Given the description of an element on the screen output the (x, y) to click on. 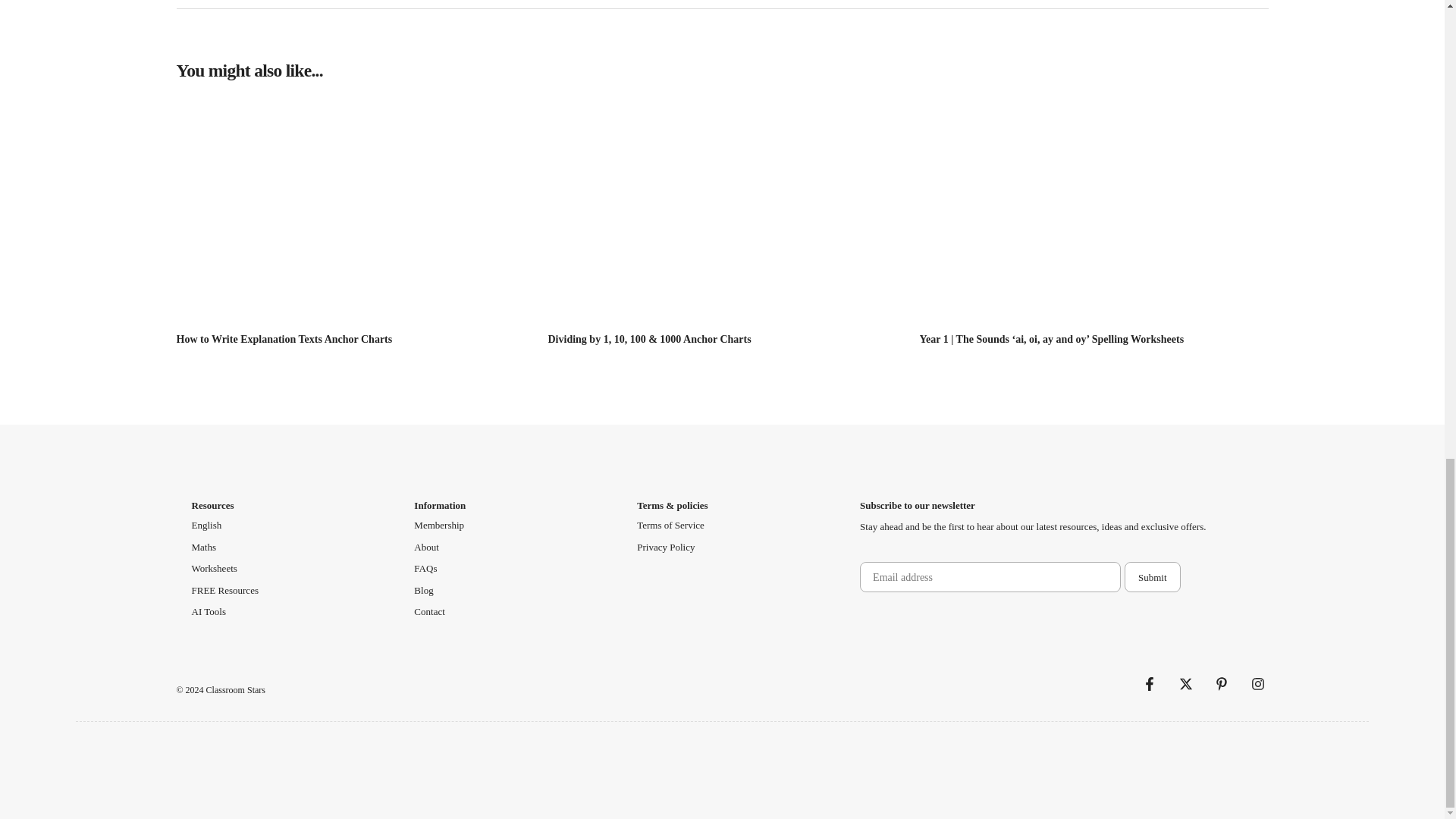
How to Write Explanation Texts Anchor Charts (283, 338)
English (205, 525)
Worksheets (212, 568)
Maths (202, 547)
